Given the description of an element on the screen output the (x, y) to click on. 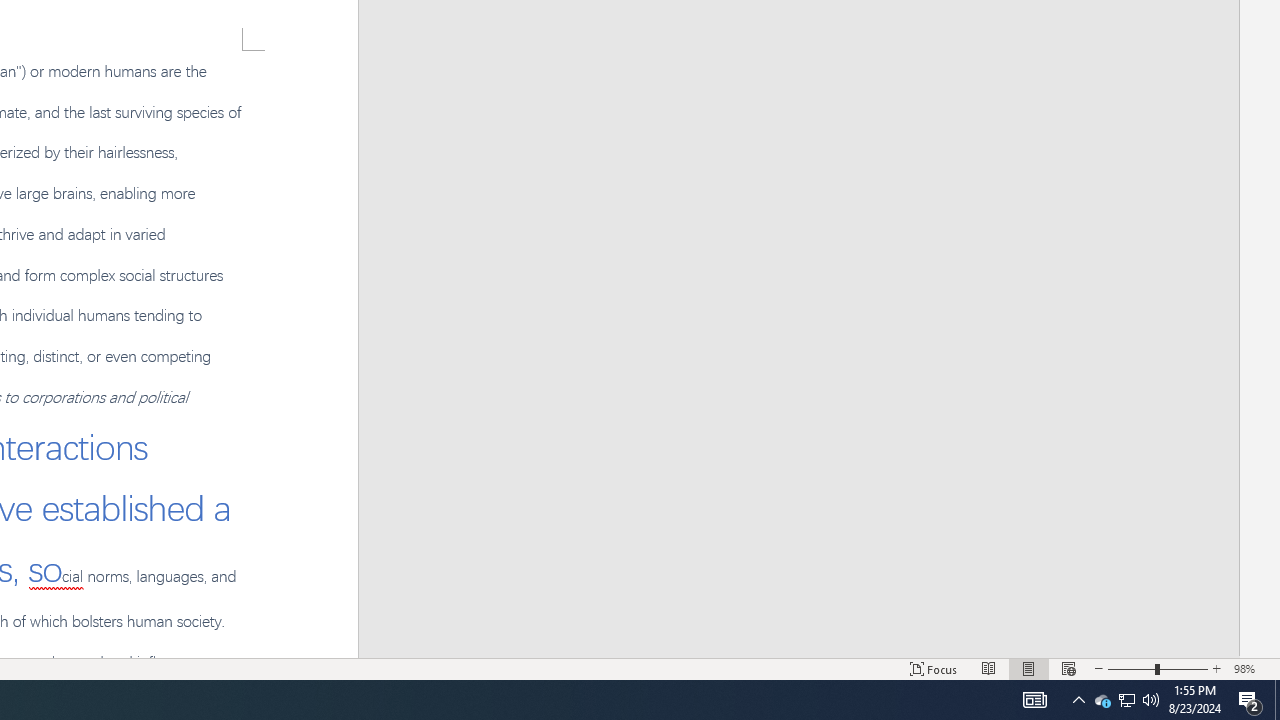
Print Layout (1028, 668)
Show desktop (1277, 699)
Web Layout (1069, 668)
Notification Chevron (1078, 699)
Q2790: 100% (1151, 699)
Zoom Out (1131, 668)
Action Center, 2 new notifications (1250, 699)
Read Mode (1126, 699)
User Promoted Notification Area (988, 668)
Zoom (1126, 699)
AutomationID: 4105 (1158, 668)
Zoom In (1034, 699)
Focus  (1217, 668)
